Given the description of an element on the screen output the (x, y) to click on. 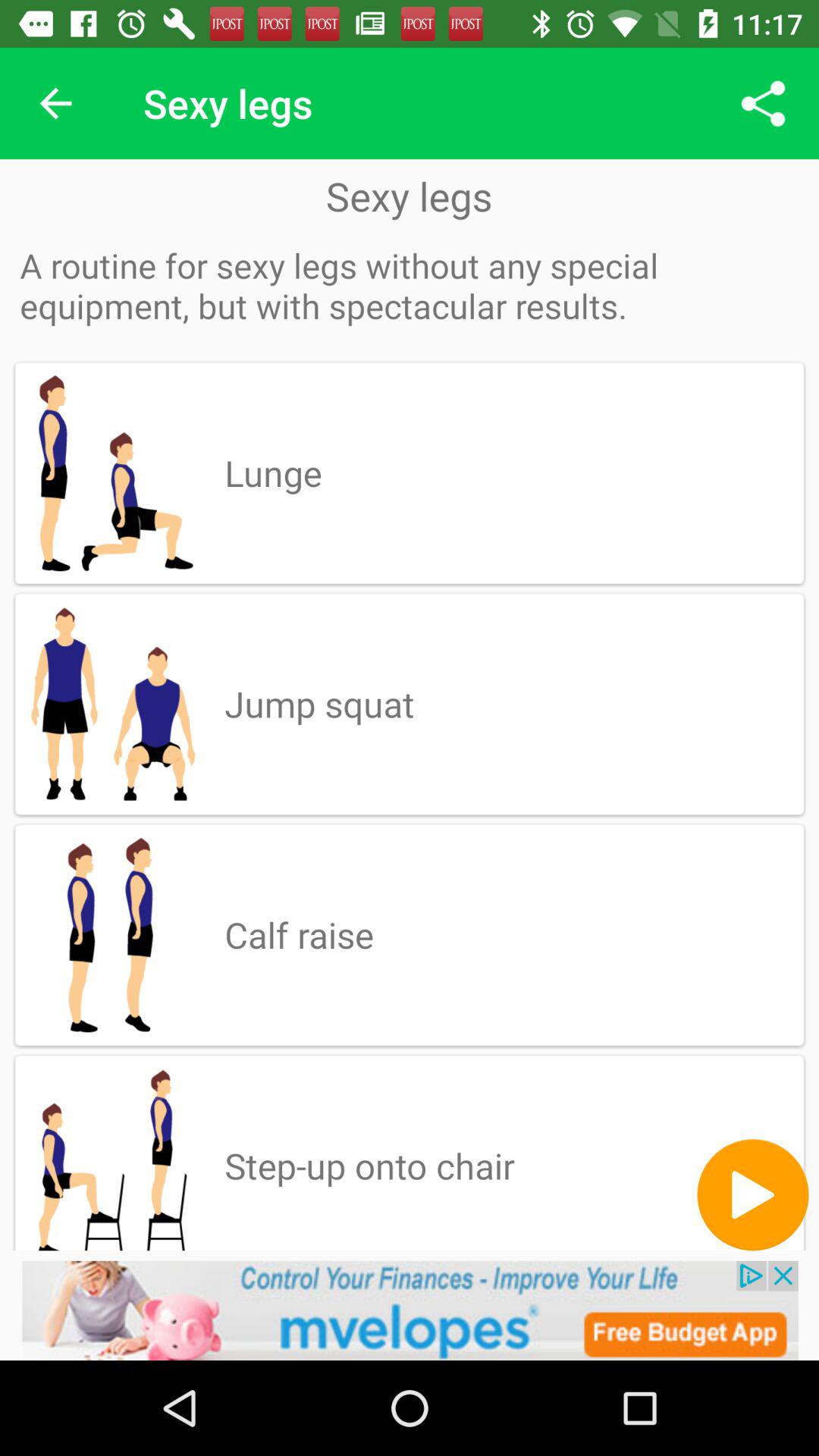
learn about this product (409, 1310)
